Given the description of an element on the screen output the (x, y) to click on. 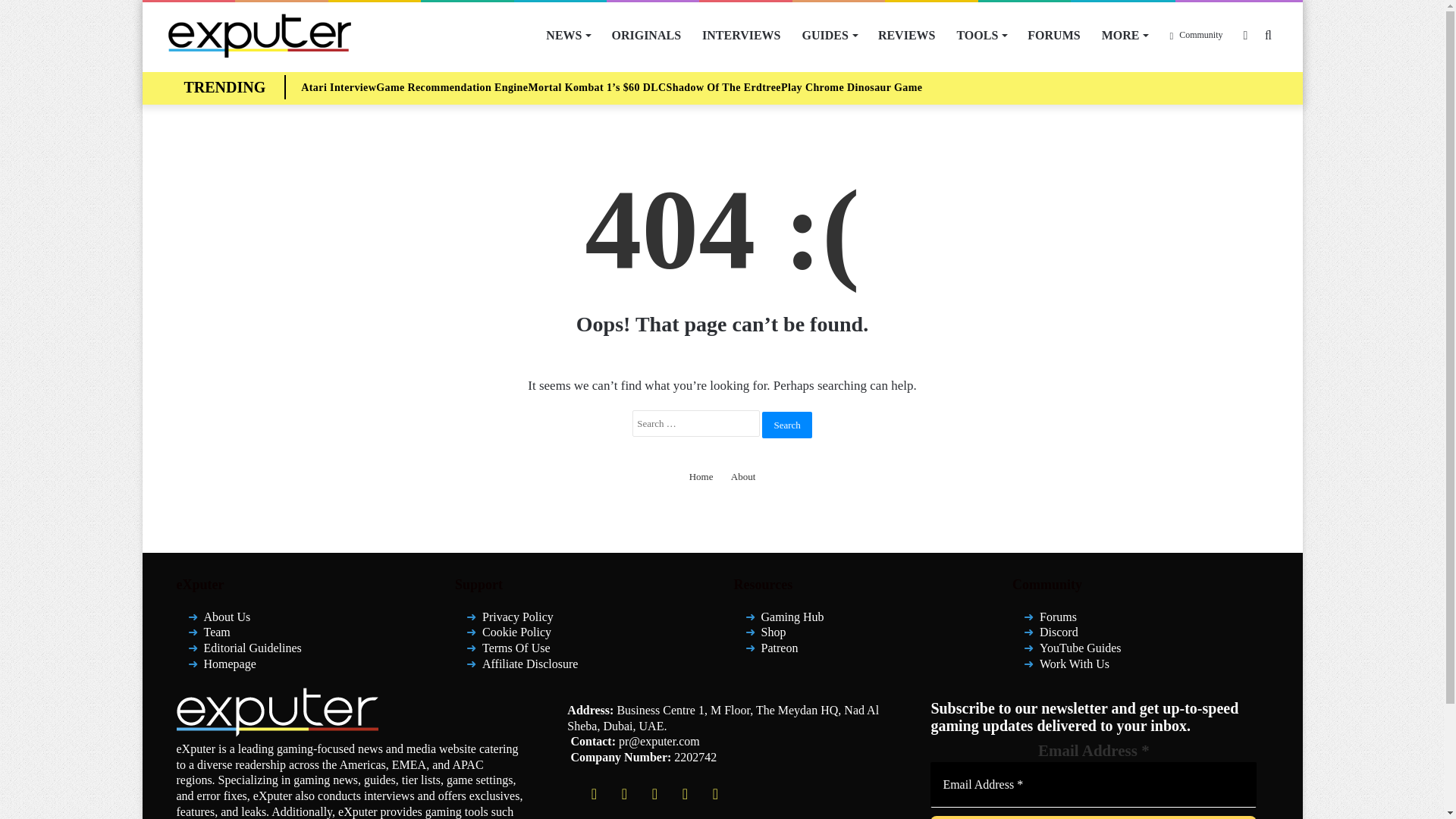
FORUMS (1053, 35)
Email Address (1093, 784)
eXputer.com (259, 34)
NEWS (567, 35)
INTERVIEWS (740, 35)
Search (785, 424)
ORIGINALS (645, 35)
TOOLS (980, 35)
GUIDES (829, 35)
MORE (1124, 35)
Search (785, 424)
REVIEWS (906, 35)
